Given the description of an element on the screen output the (x, y) to click on. 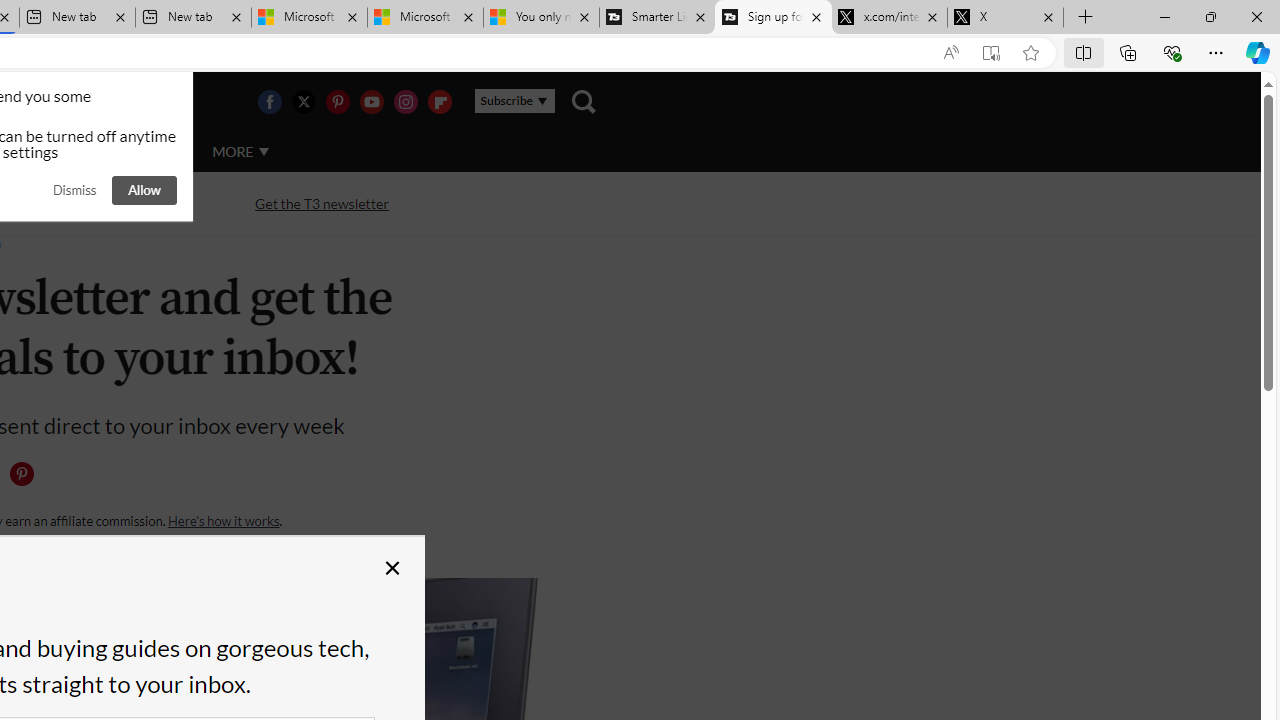
AUTO (153, 151)
